Given the description of an element on the screen output the (x, y) to click on. 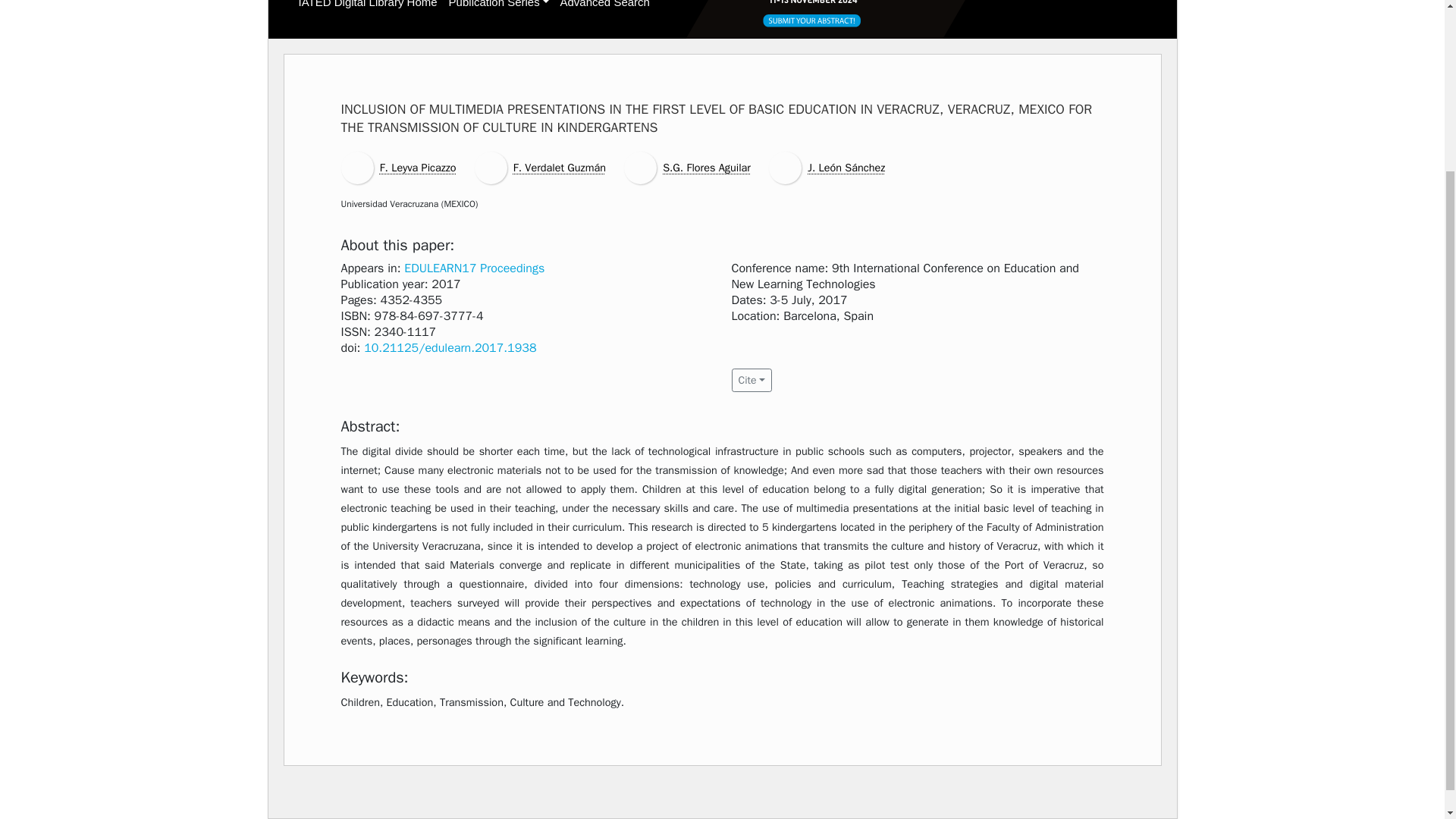
IATED Digital Library Home (368, 4)
F. Leyva Picazzo (418, 167)
doi (449, 347)
Cite (750, 380)
Advanced Search (604, 4)
S.G. Flores Aguilar (706, 167)
EDULEARN17 Proceedings (474, 268)
Publication Series (498, 4)
